Given the description of an element on the screen output the (x, y) to click on. 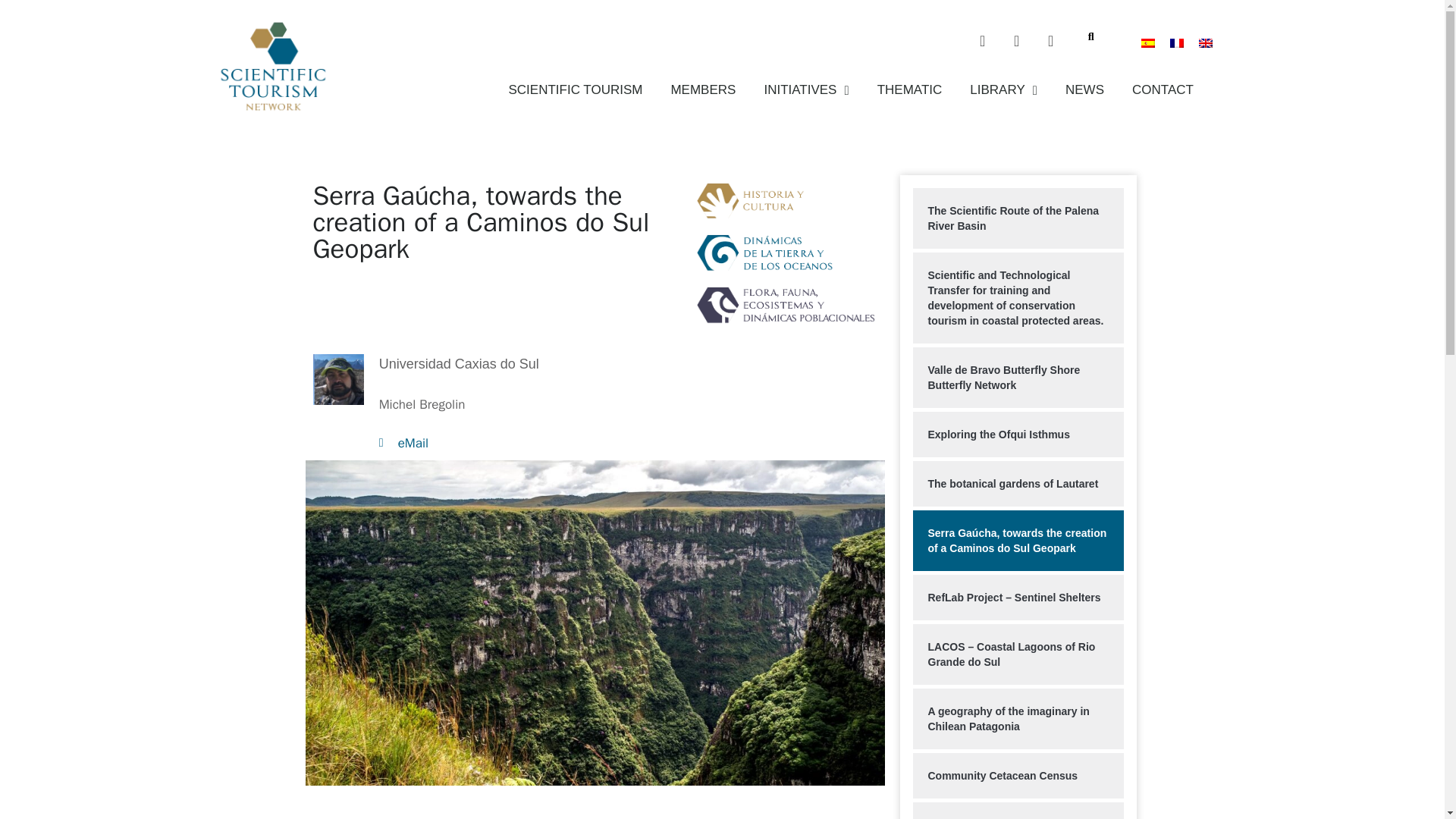
NEWS (1084, 89)
THEMATIC (909, 89)
SCIENTIFIC TOURISM (575, 89)
MEMBERS (703, 89)
LIBRARY (1002, 89)
The Scientific Route of the Palena River Basin (1018, 218)
INITIATIVES (805, 89)
eMail (530, 443)
CONTACT (1162, 89)
